Given the description of an element on the screen output the (x, y) to click on. 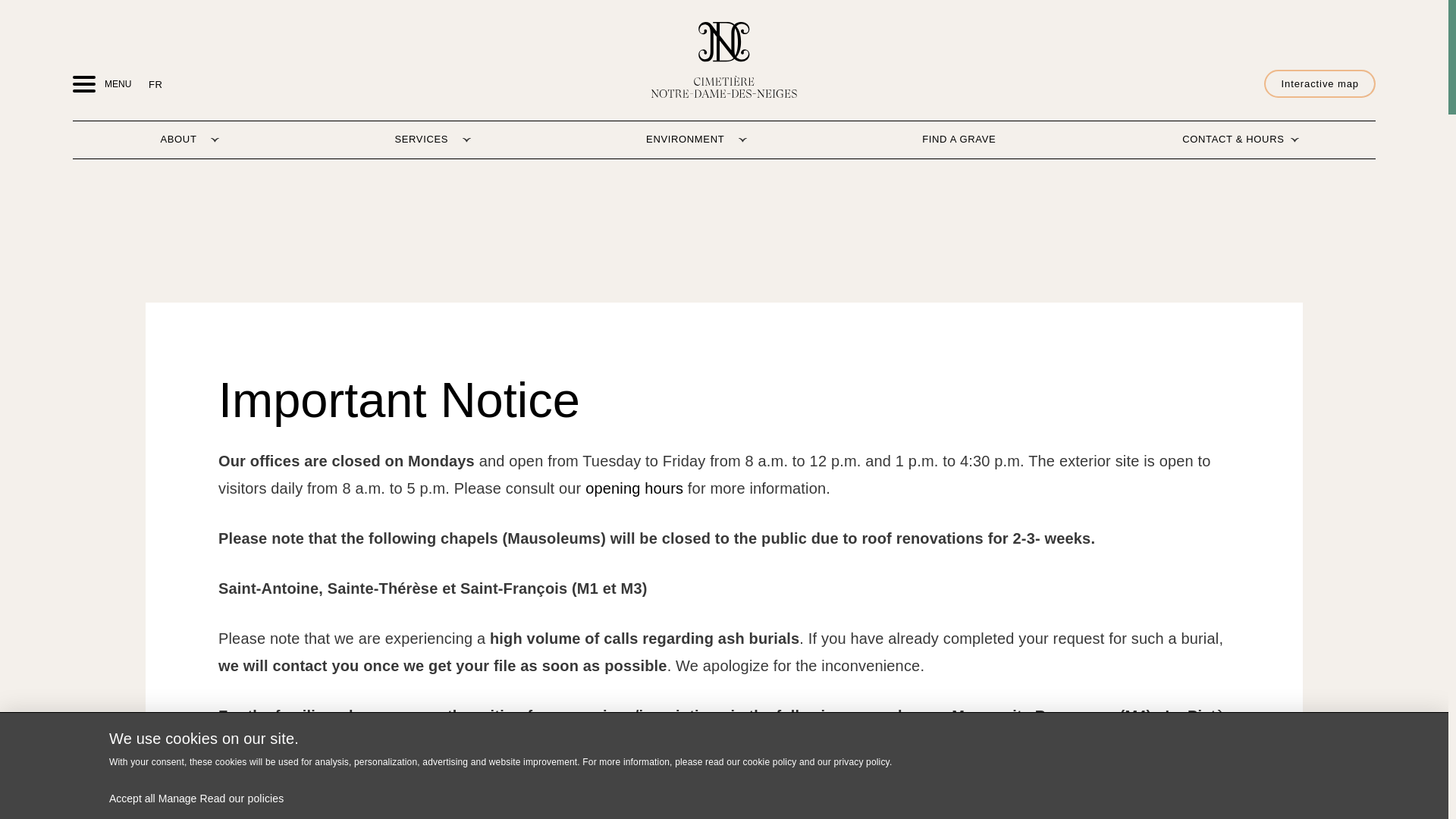
Manage (177, 798)
opening hours (633, 487)
Interactive map (1319, 83)
Accept all (132, 798)
Interactive map (1319, 83)
FIND A GRAVE (959, 139)
fill out this form here (806, 792)
MENU (84, 84)
Find a grave (959, 139)
fr (149, 83)
Read our policies (241, 798)
FR (149, 83)
